Given the description of an element on the screen output the (x, y) to click on. 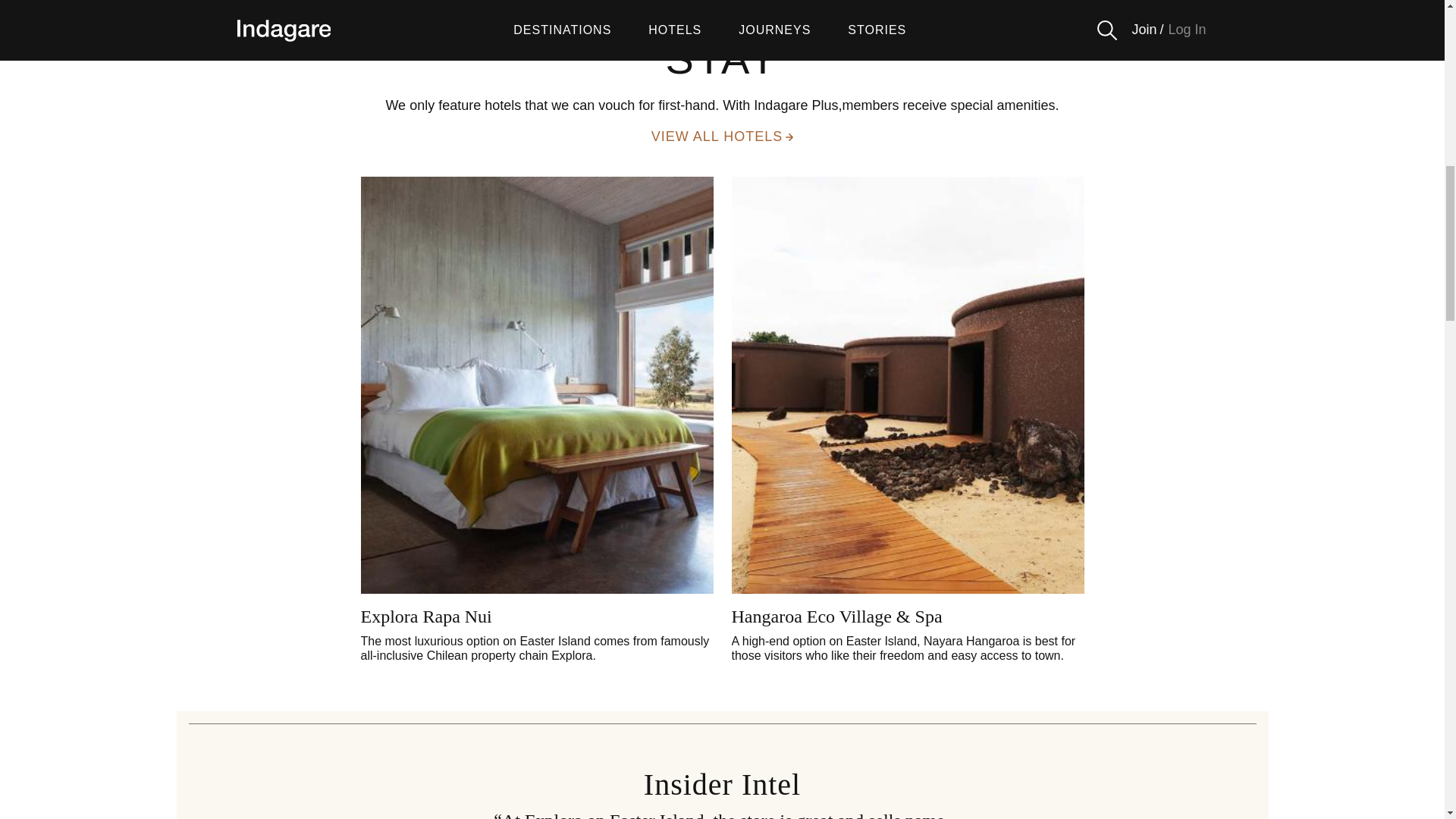
VIEW ALL HOTELS (721, 136)
